Given the description of an element on the screen output the (x, y) to click on. 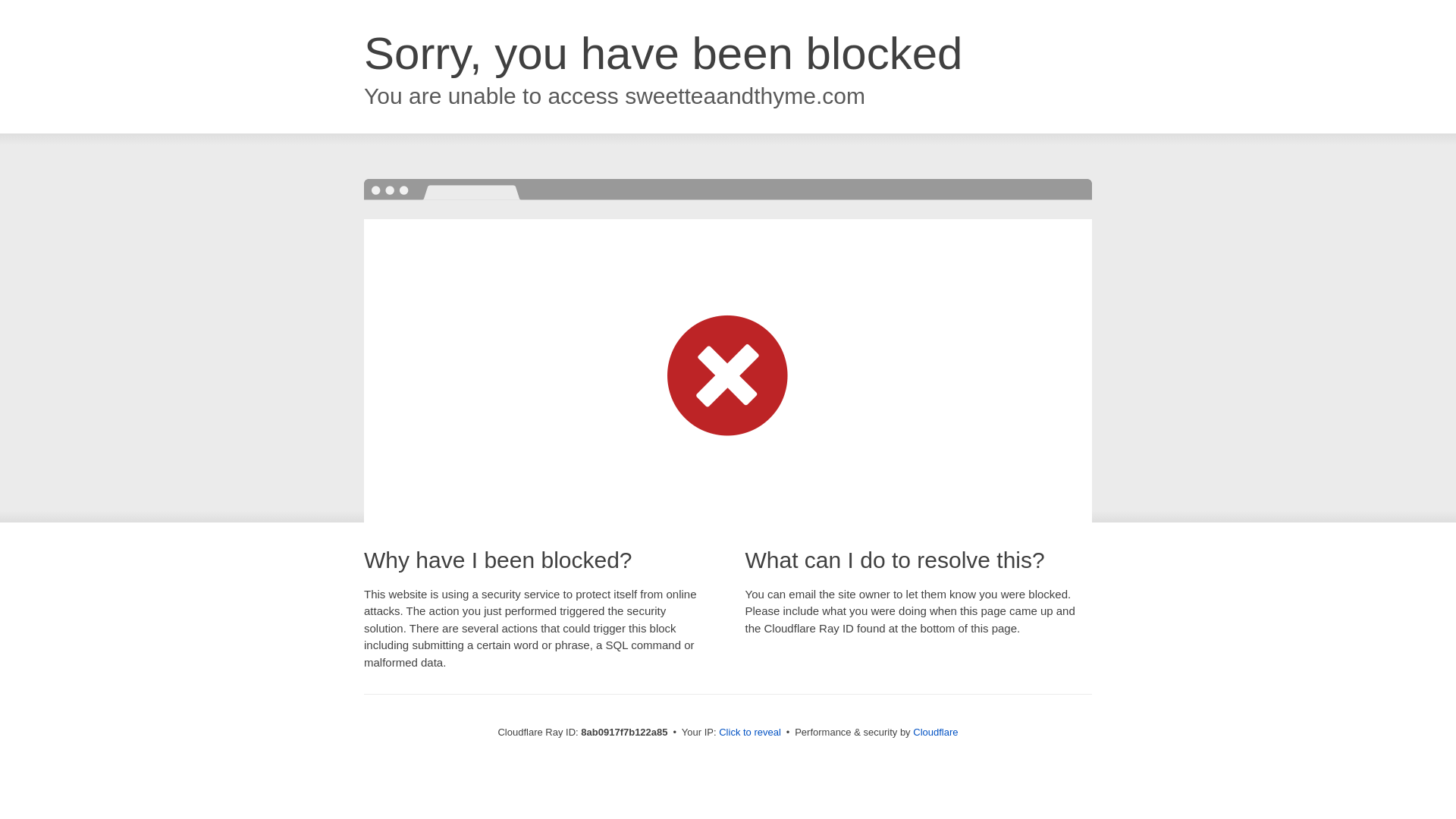
Cloudflare (935, 731)
Click to reveal (749, 732)
